Given the description of an element on the screen output the (x, y) to click on. 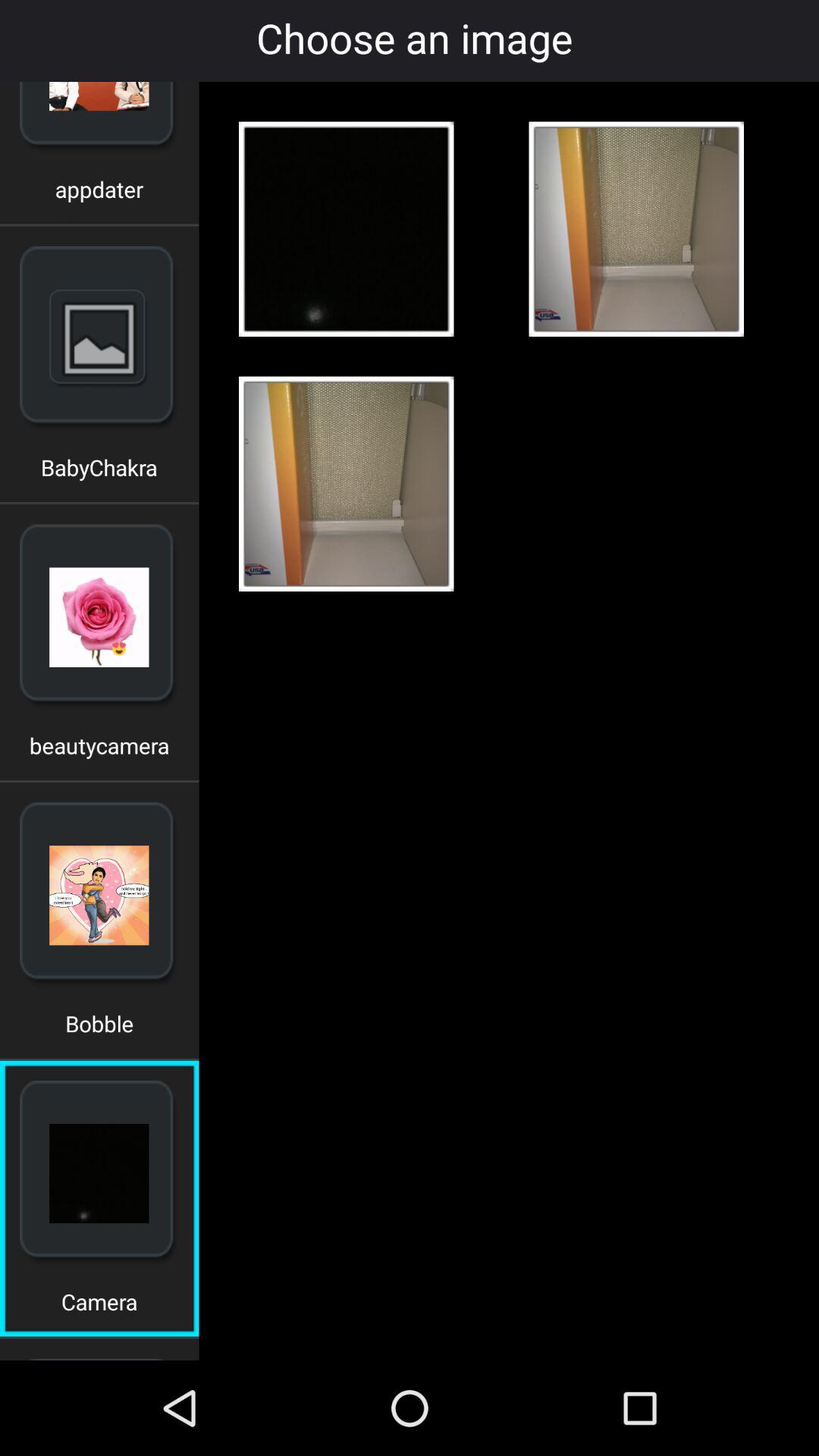
click appadater (99, 194)
select the option bobble on the page (99, 1028)
